Given the description of an element on the screen output the (x, y) to click on. 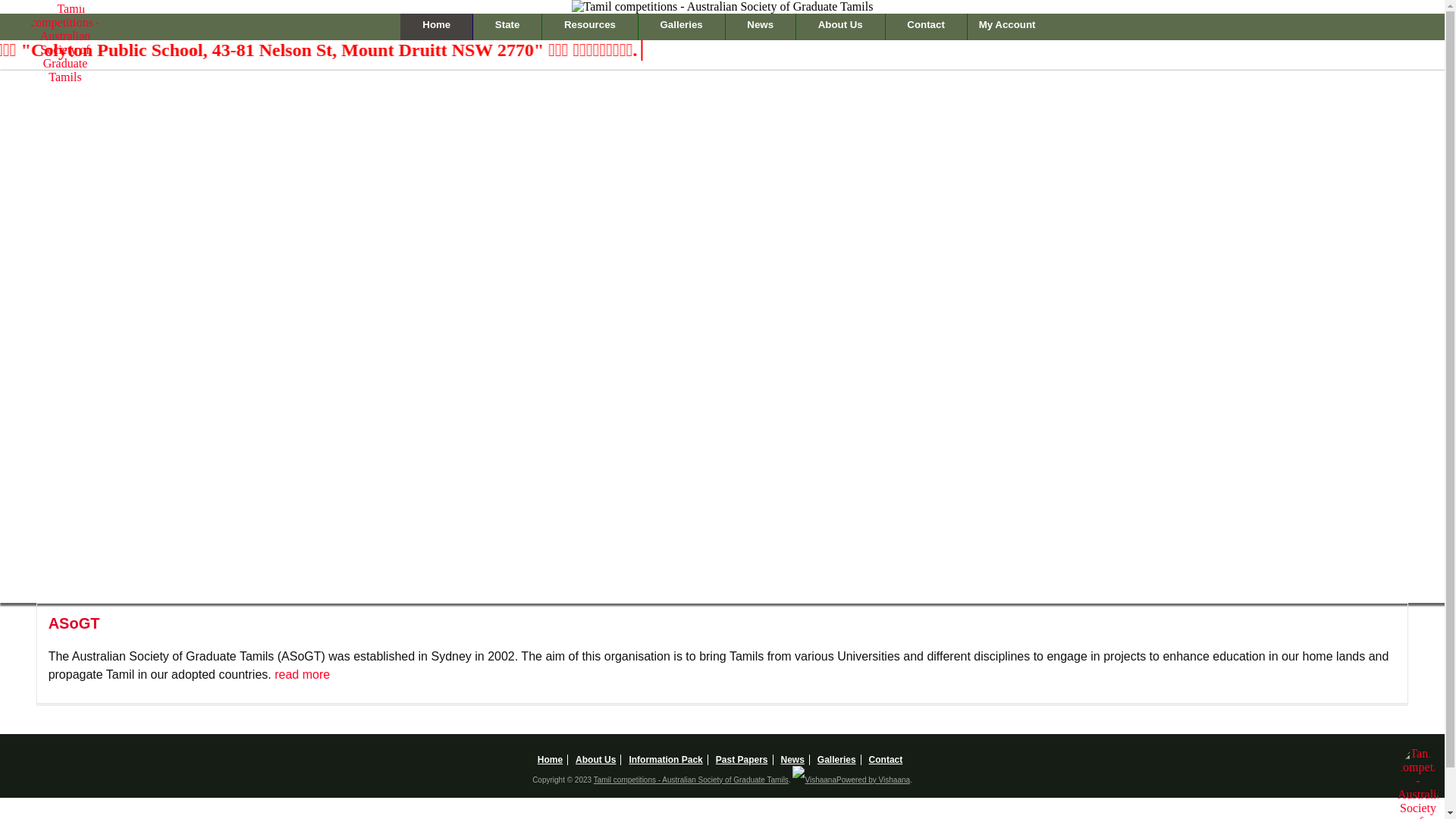
Contact Element type: text (885, 759)
News Element type: text (792, 759)
News Element type: text (760, 26)
Home Element type: text (436, 26)
Past Papers Element type: text (742, 759)
Galleries Element type: text (681, 26)
Galleries Element type: text (836, 759)
read more Element type: text (301, 674)
About Us Element type: text (596, 759)
Powered by Vishaana Element type: text (851, 779)
Vishaana Element type: hover (814, 779)
Information Pack Element type: text (665, 759)
Resources Element type: text (589, 26)
Tamil competitions - Australian Society of Graduate Tamils Element type: text (690, 779)
Tamil competitions -  Australian Society of Graduate Tamils Element type: hover (722, 6)
My Account Element type: text (1007, 26)
Tamil competitions -  Australian Society of Graduate Tamils Element type: hover (65, 43)
State Element type: text (507, 26)
About Us Element type: text (840, 26)
Contact Element type: text (925, 26)
Home Element type: text (552, 759)
